Given the description of an element on the screen output the (x, y) to click on. 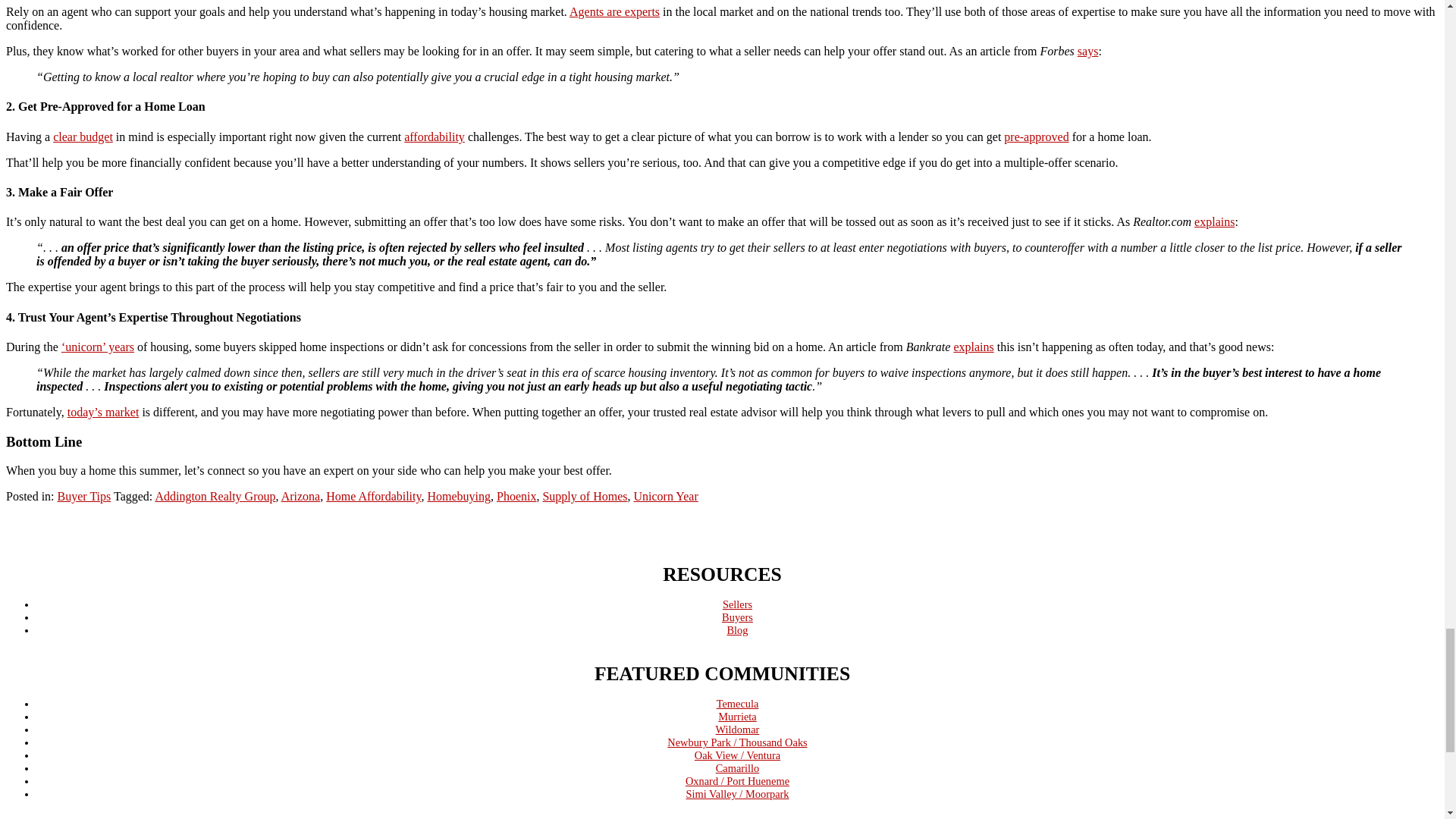
Buyers (737, 616)
Wildomar (738, 729)
Camarillo (738, 767)
Blog (737, 630)
Sellers (737, 604)
Temecula (737, 703)
Murrieta (736, 716)
